Given the description of an element on the screen output the (x, y) to click on. 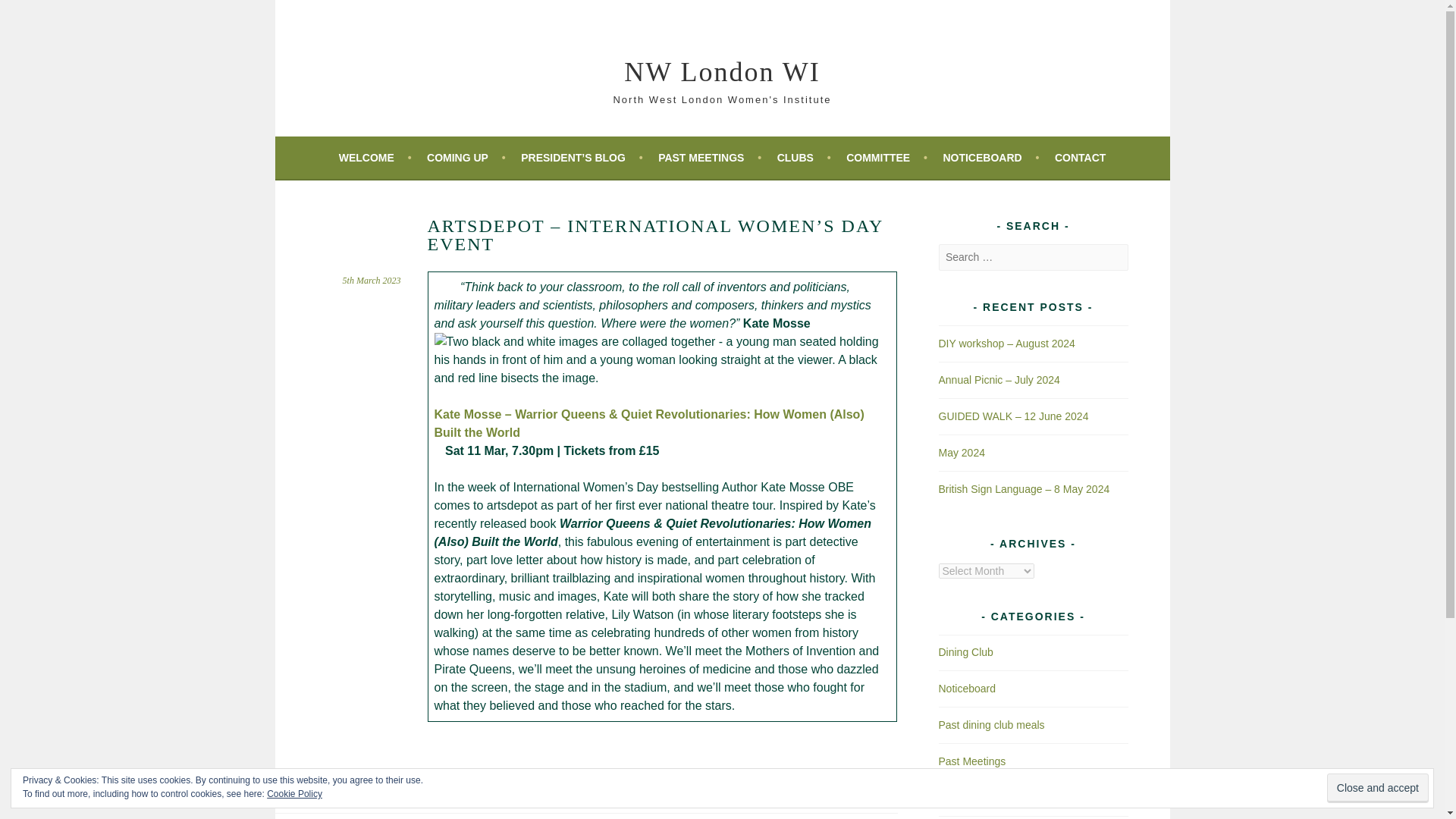
Past dining club meals (992, 725)
NOTICEBOARD (990, 157)
WELCOME (375, 157)
NW London WI (722, 71)
5th March 2023 (371, 280)
COMING UP (465, 157)
Noticeboard (967, 688)
Close and accept (1377, 788)
CLUBS (804, 157)
Past Meetings (972, 761)
